Given the description of an element on the screen output the (x, y) to click on. 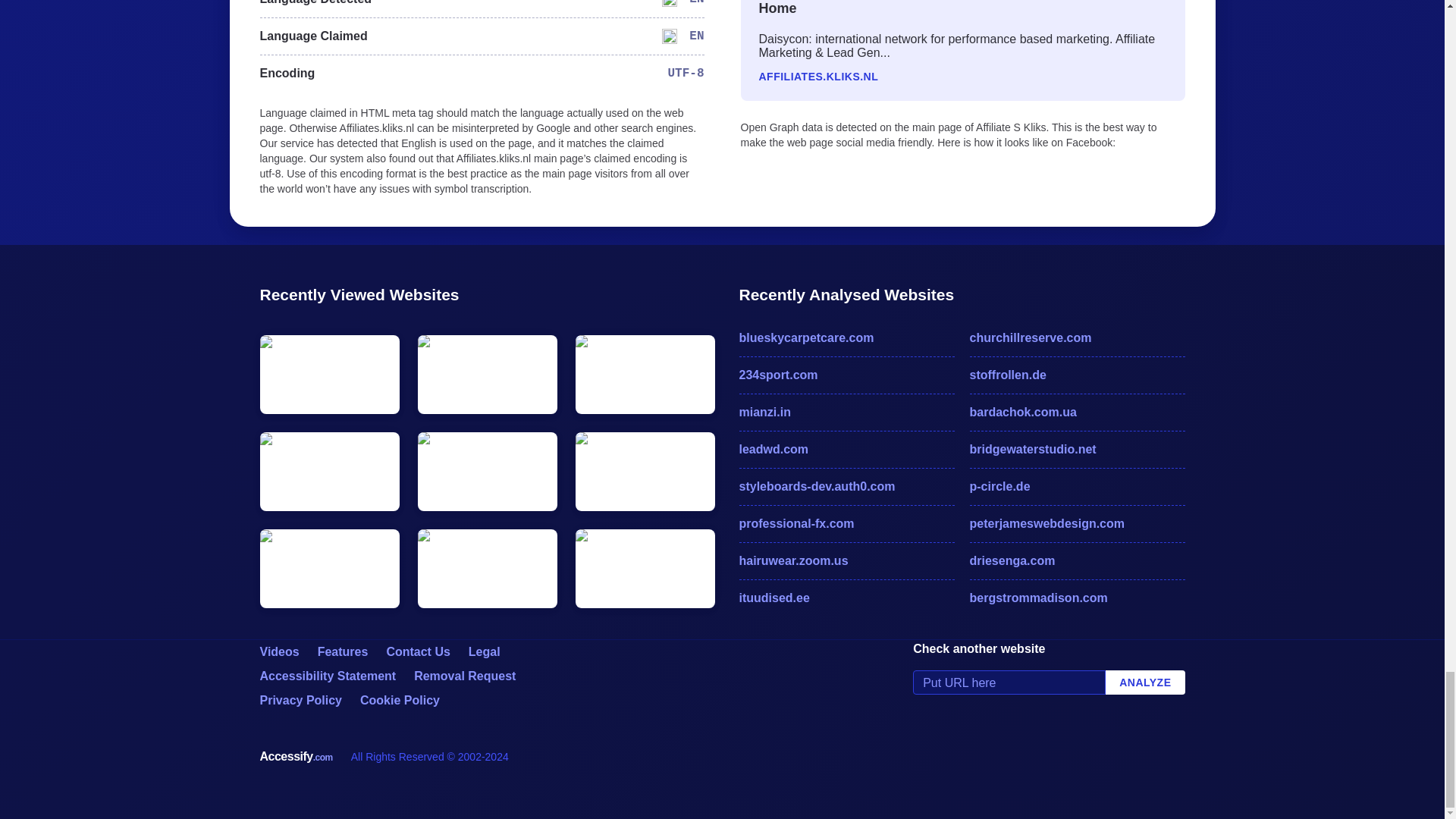
peterjameswebdesign.com (1077, 524)
p-circle.de (1077, 486)
churchillreserve.com (1077, 338)
mianzi.in (845, 412)
leadwd.com (845, 449)
driesenga.com (1077, 561)
ituudised.ee (845, 597)
bridgewaterstudio.net (1077, 449)
hairuwear.zoom.us (845, 561)
Legal (484, 651)
blueskycarpetcare.com (845, 338)
Screencasts: video tutorials and guides (278, 651)
Contact Us (417, 651)
234sport.com (845, 375)
stoffrollen.de (1077, 375)
